Given the description of an element on the screen output the (x, y) to click on. 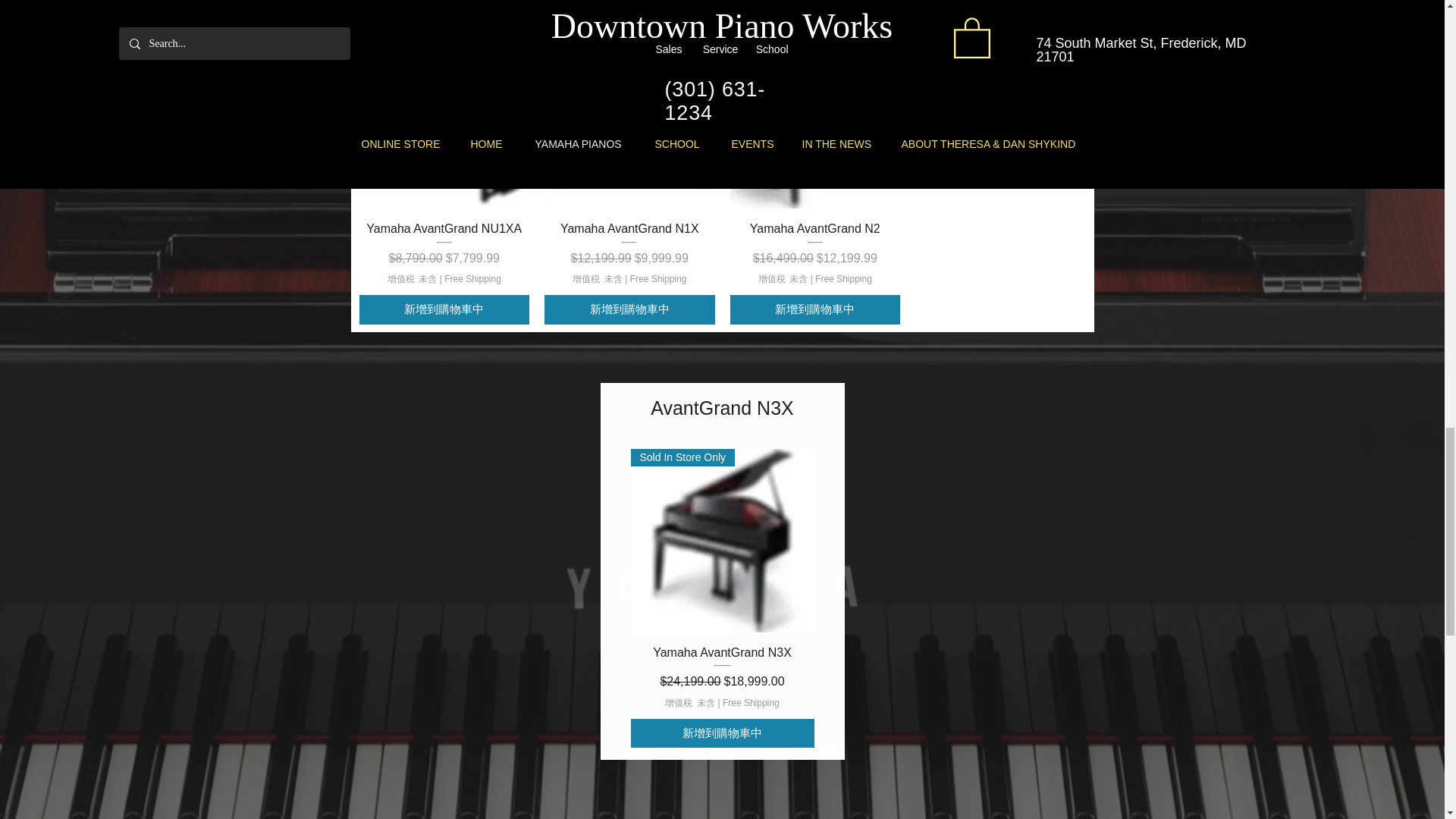
Newly updated! (444, 123)
Free Shipping (472, 278)
Free Shipping (658, 278)
